Given the description of an element on the screen output the (x, y) to click on. 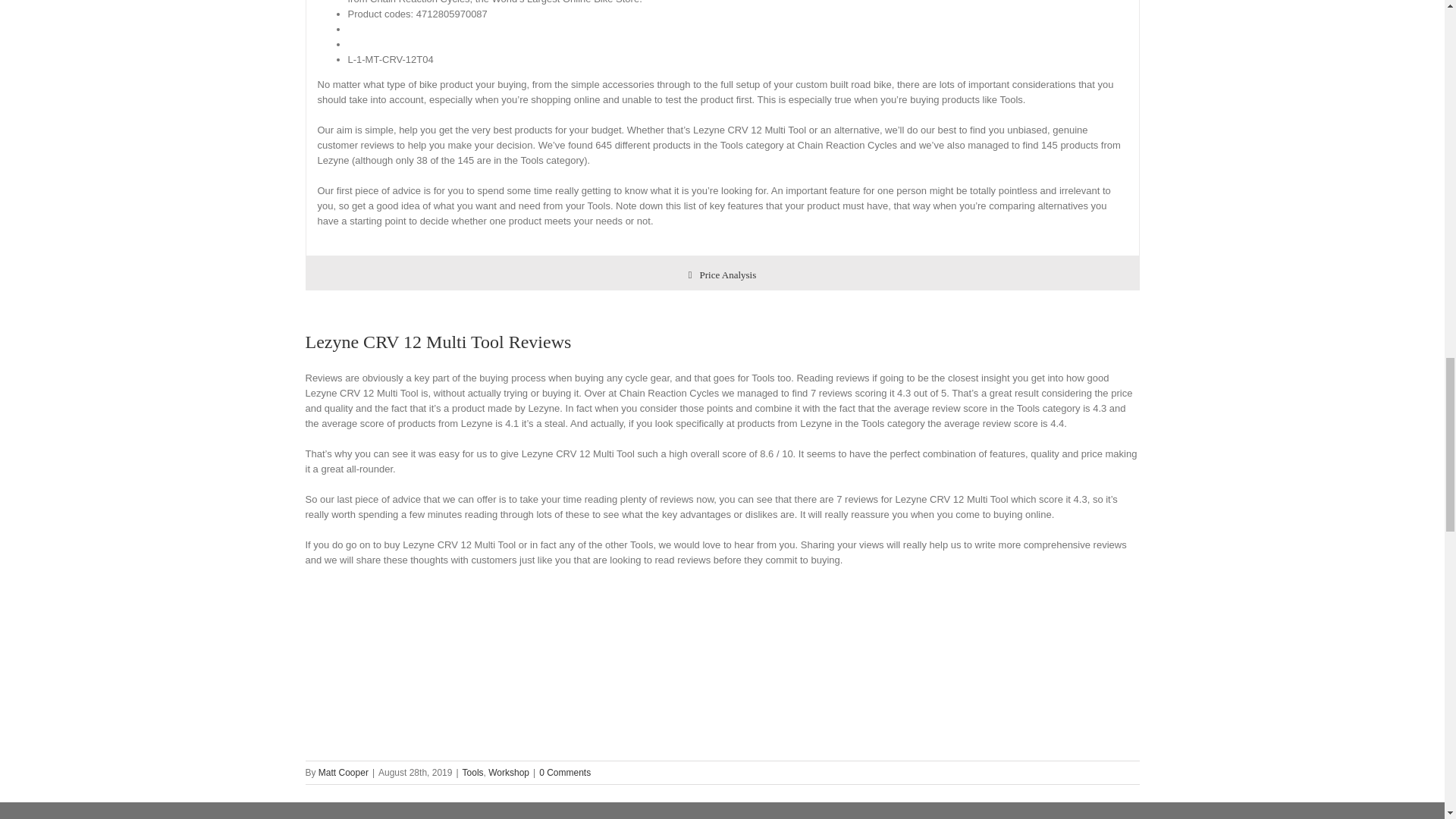
Matt Cooper (343, 772)
Posts by Matt Cooper (343, 772)
Workshop (508, 772)
Tools (473, 772)
Price Analysis (721, 273)
